Given the description of an element on the screen output the (x, y) to click on. 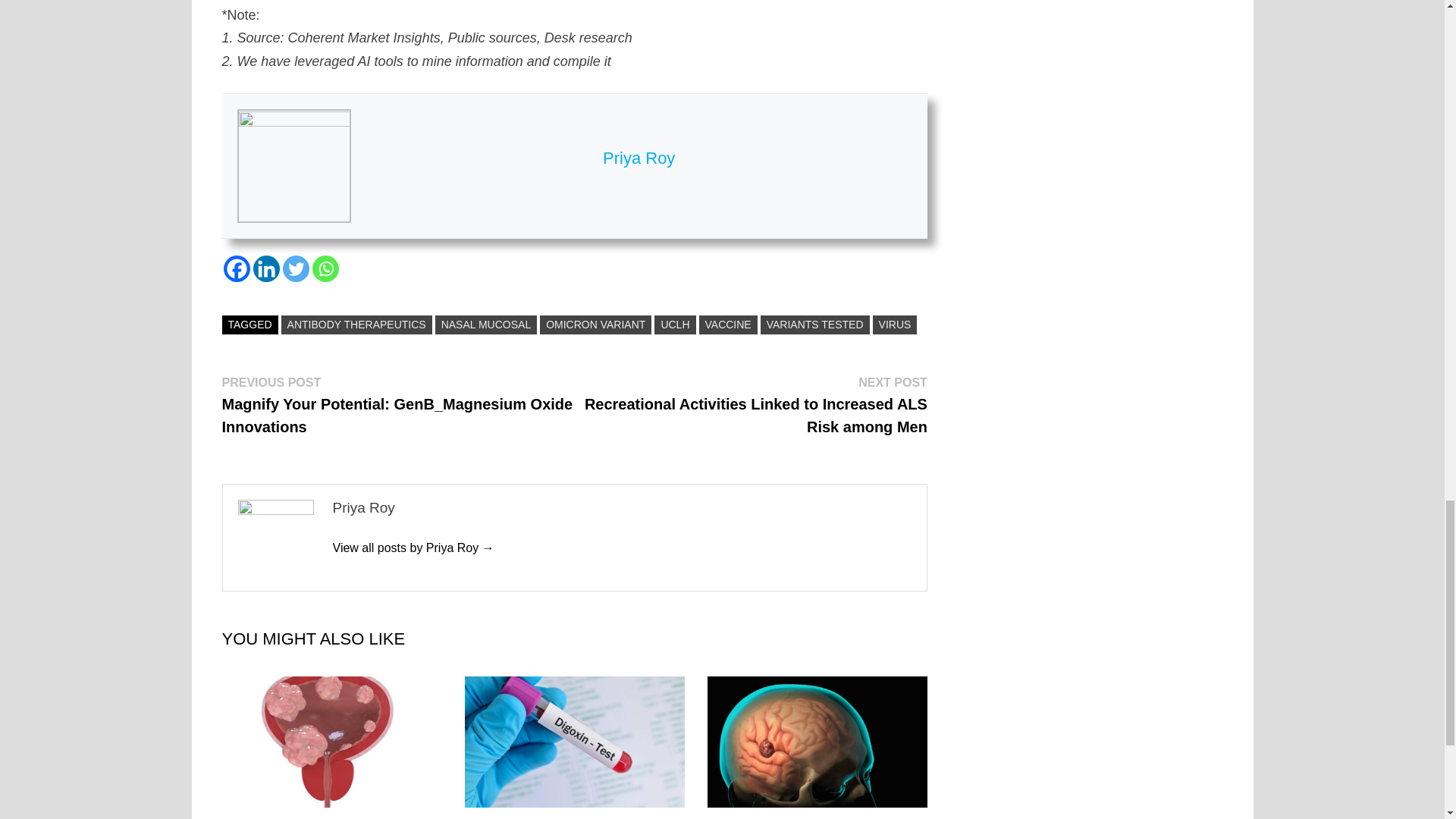
Twitter (295, 268)
Whatsapp (326, 268)
Facebook (235, 268)
Priya Roy (412, 547)
Linkedin (266, 268)
